Given the description of an element on the screen output the (x, y) to click on. 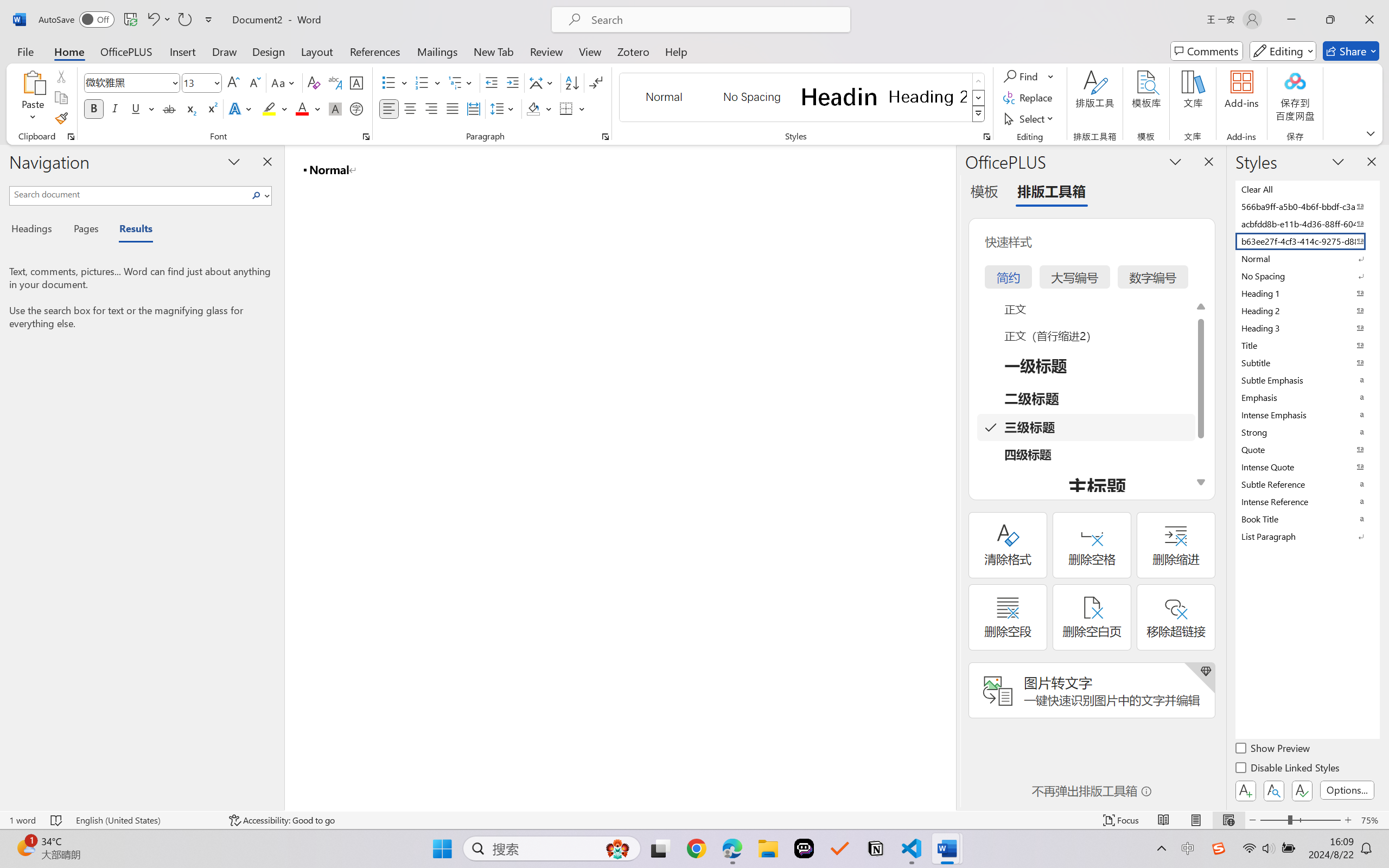
Character Shading (334, 108)
References (375, 51)
Emphasis (1306, 397)
Multilevel List (461, 82)
Design (268, 51)
Quote (1306, 449)
Asian Layout (542, 82)
Read Mode (1163, 819)
Share (1350, 51)
Align Right (431, 108)
Subtle Emphasis (1306, 379)
Align Left (388, 108)
Superscript (210, 108)
